Given the description of an element on the screen output the (x, y) to click on. 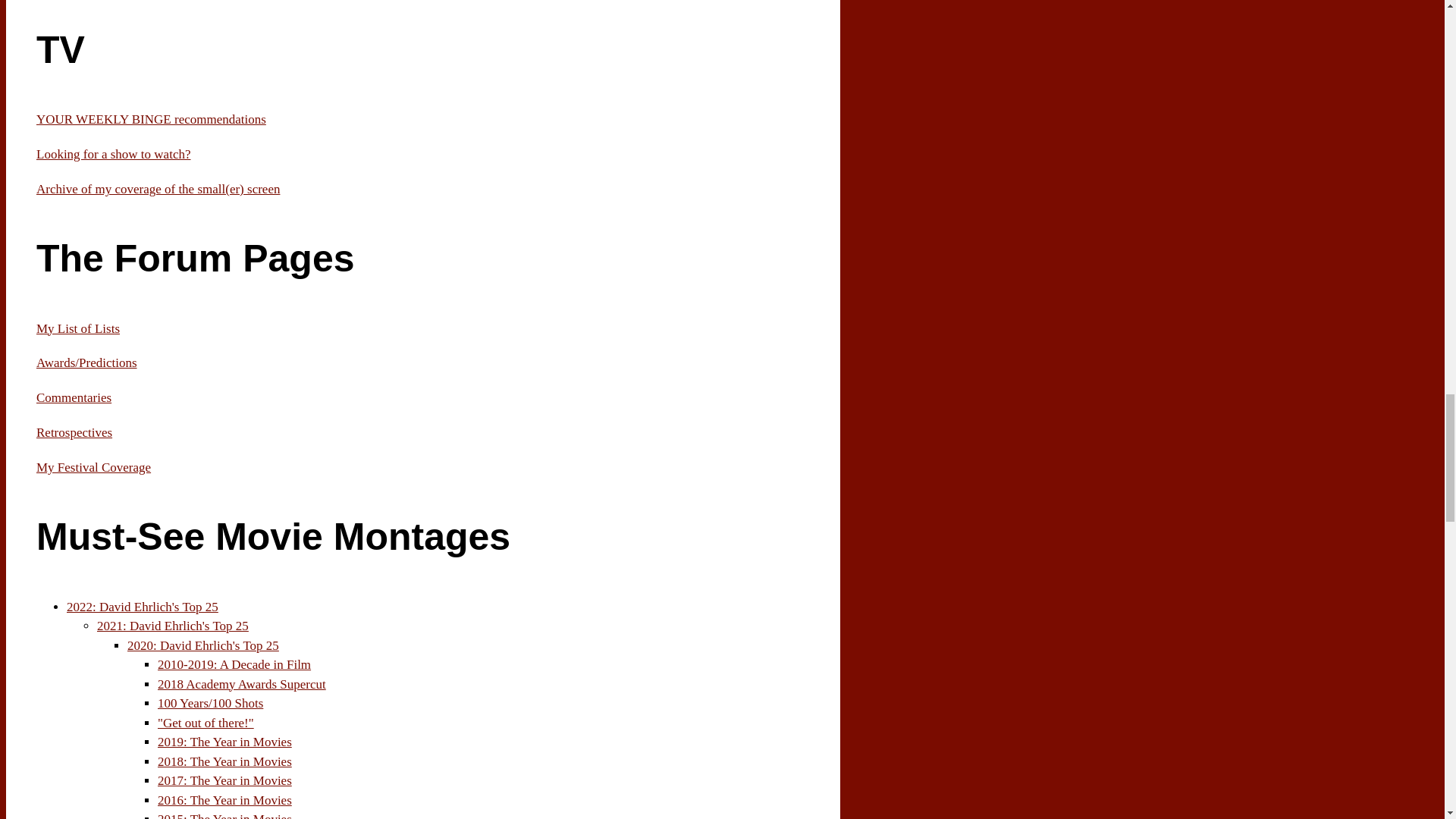
2022: David Ehrlich's Top 25 (142, 606)
YOUR WEEKLY BINGE recommendations (151, 119)
My List of Lists (77, 328)
Looking for a show to watch? (113, 154)
Commentaries (74, 397)
My Festival Coverage (93, 467)
Retrospectives (74, 432)
